Given the description of an element on the screen output the (x, y) to click on. 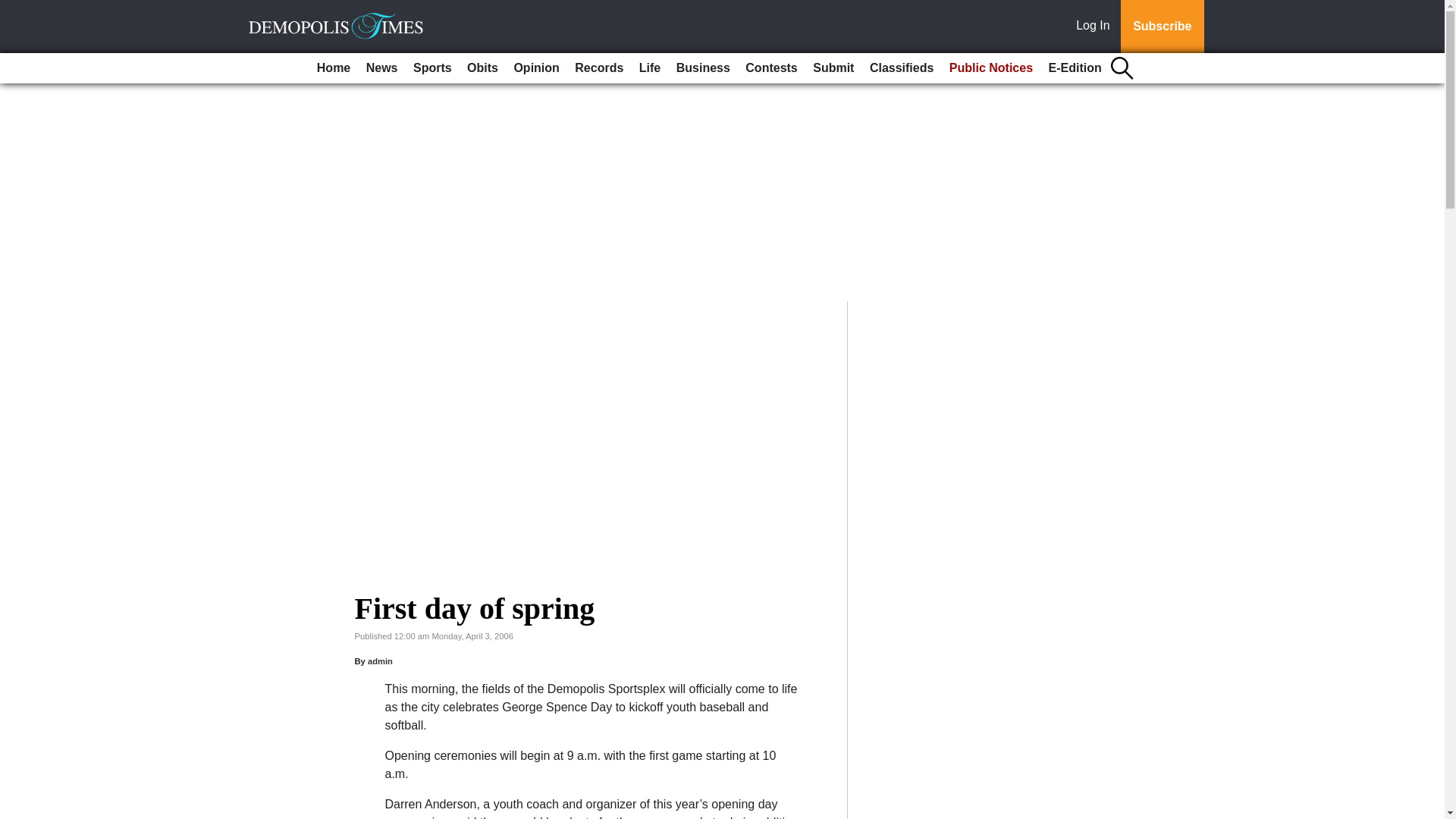
Go (13, 9)
Home (333, 68)
Classifieds (901, 68)
Subscribe (1162, 26)
Sports (432, 68)
Submit (833, 68)
News (381, 68)
Business (702, 68)
Contests (771, 68)
Opinion (535, 68)
Log In (1095, 26)
admin (380, 660)
Life (649, 68)
Obits (482, 68)
Public Notices (991, 68)
